Given the description of an element on the screen output the (x, y) to click on. 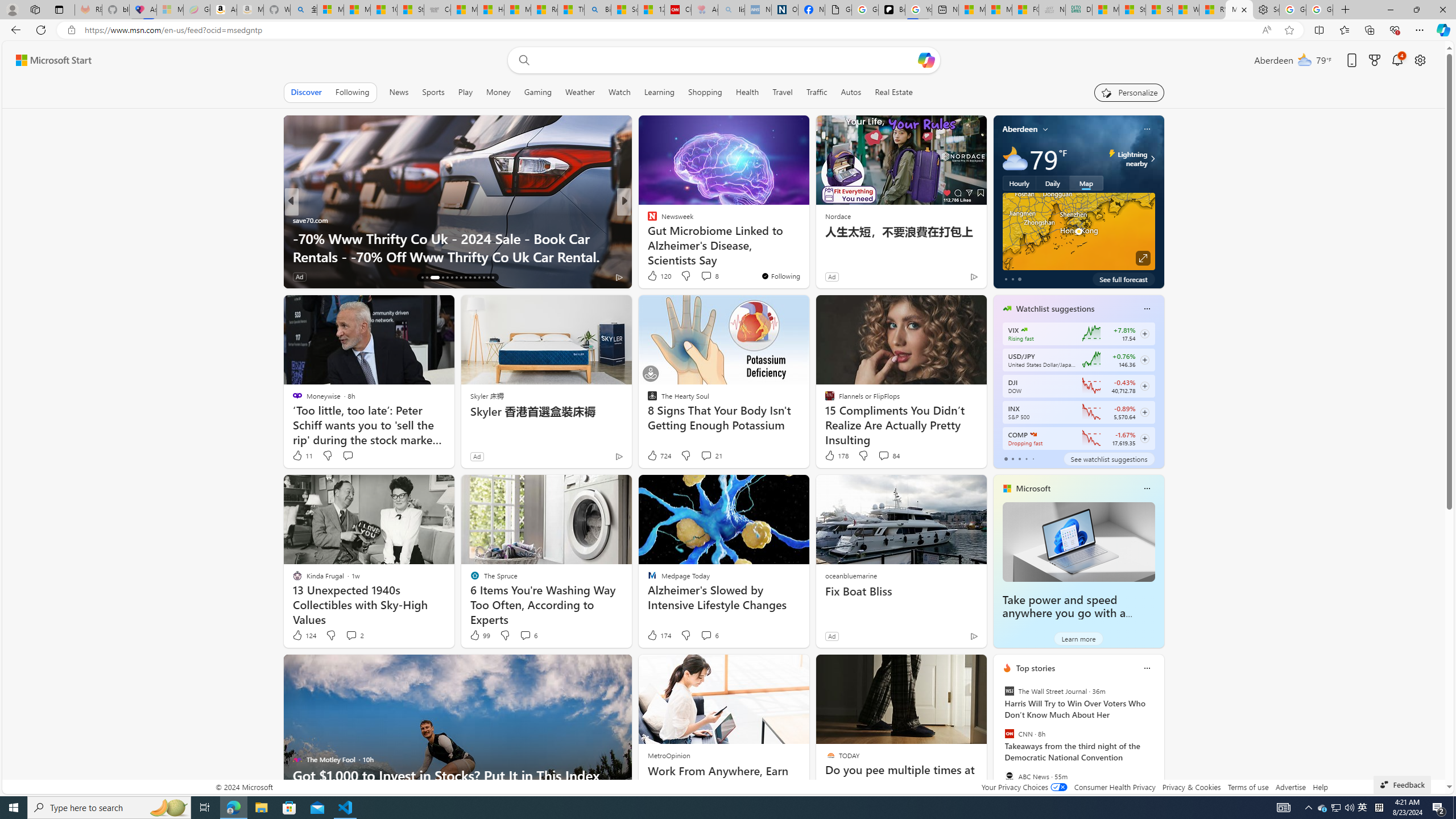
AutomationID: tab-17 (426, 277)
AutomationID: tab-25 (470, 277)
Newsweek (647, 219)
706 Like (654, 276)
View comments 7 Comment (705, 276)
Bing (597, 9)
AutomationID: tab-30 (492, 277)
MetroOpinion (668, 755)
